Given the description of an element on the screen output the (x, y) to click on. 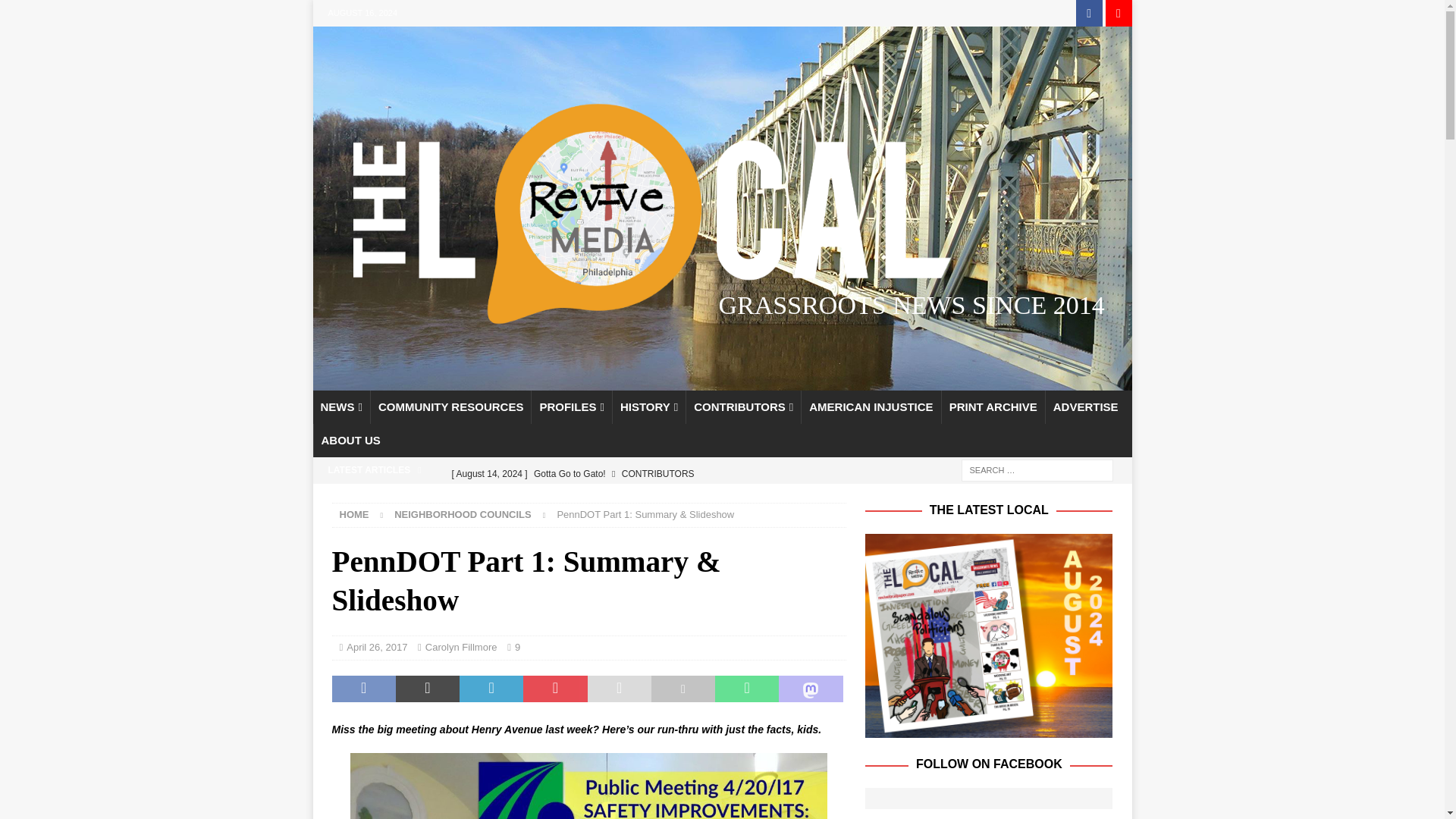
Neighborhood councils (462, 514)
Pin This Post (554, 687)
Ask Athena: Power Plays (644, 470)
NEWS (341, 407)
Gotta Go to Gato! (644, 473)
Tweet This Post (428, 687)
Send this article to a friend (619, 687)
Share on LinkedIn (491, 687)
Share on Facebook (363, 687)
